Given the description of an element on the screen output the (x, y) to click on. 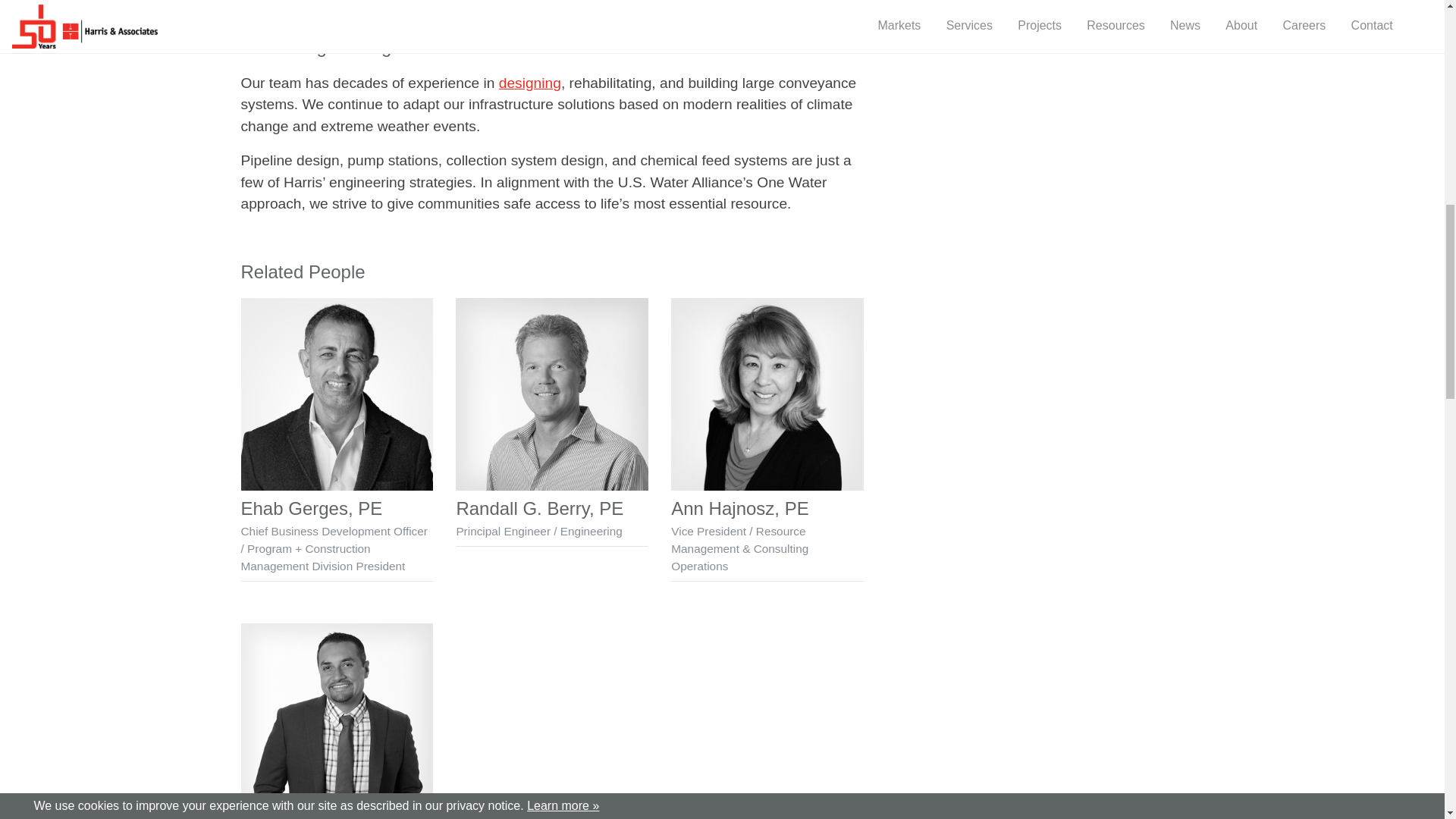
Civil Design (529, 82)
